Given the description of an element on the screen output the (x, y) to click on. 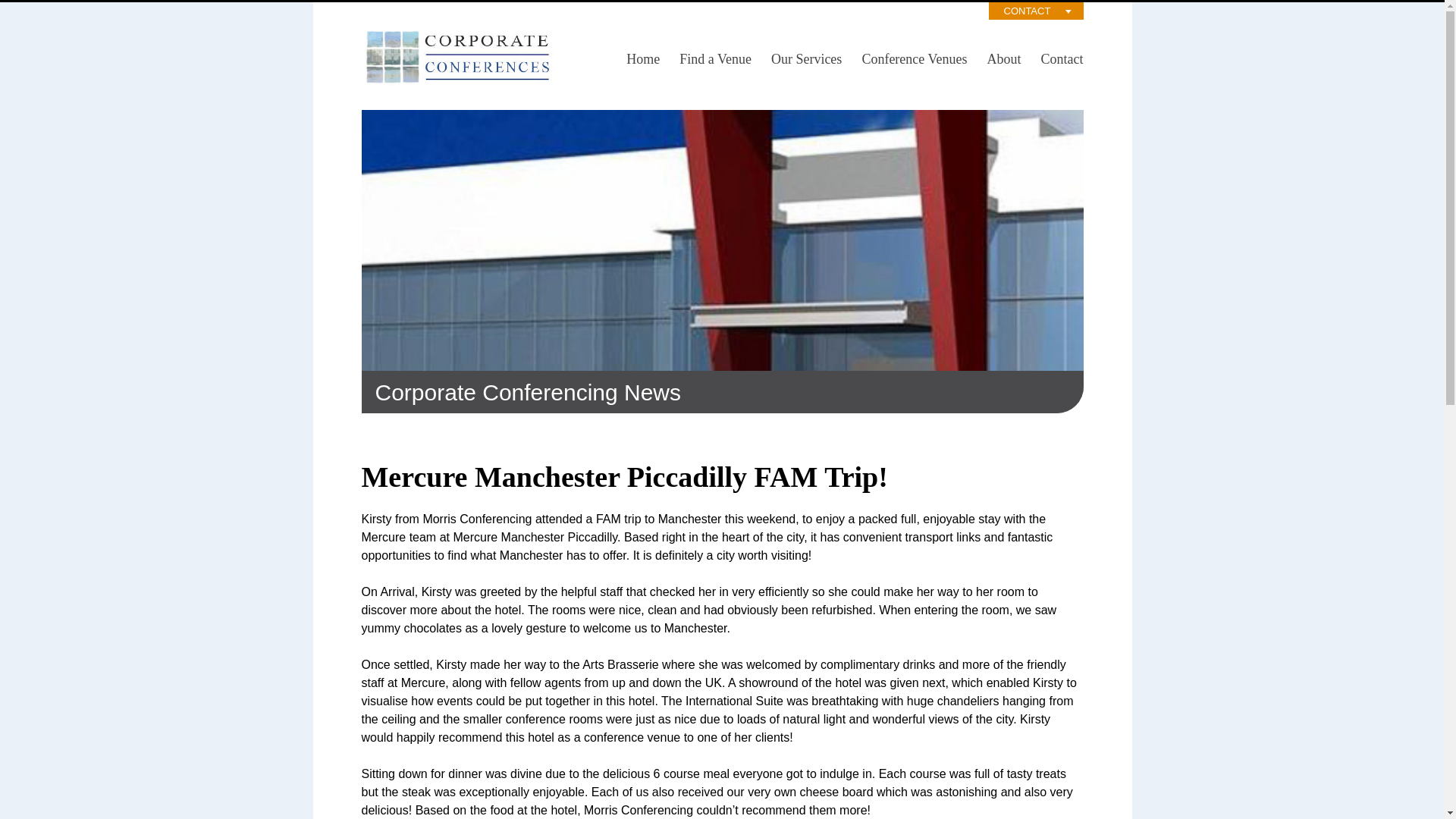
Conference Venues (913, 59)
About (1003, 59)
Find a Venue (715, 59)
Home (642, 59)
CONTACT (1035, 10)
Our Services (806, 59)
